Given the description of an element on the screen output the (x, y) to click on. 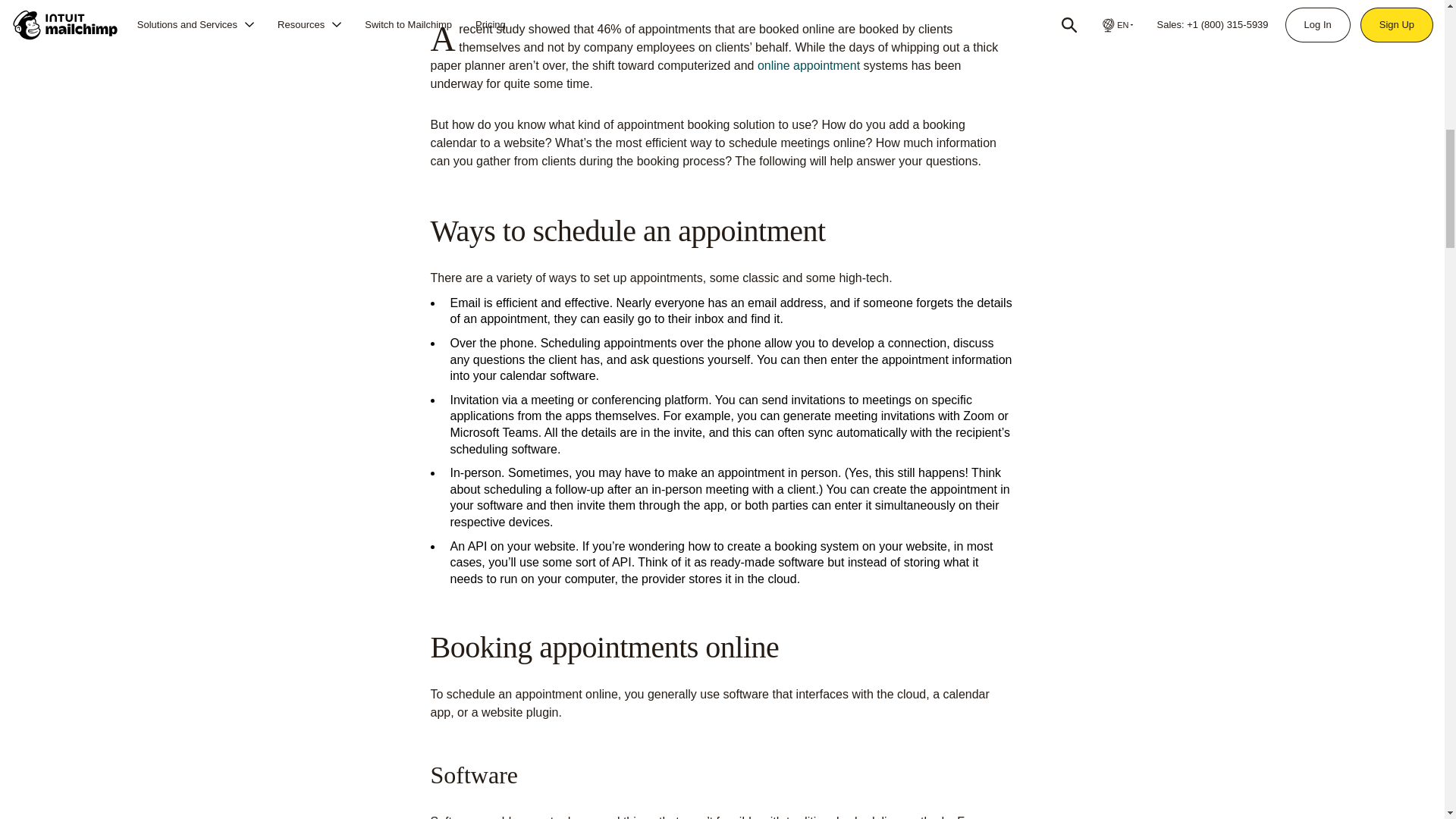
online appointment (808, 65)
